Given the description of an element on the screen output the (x, y) to click on. 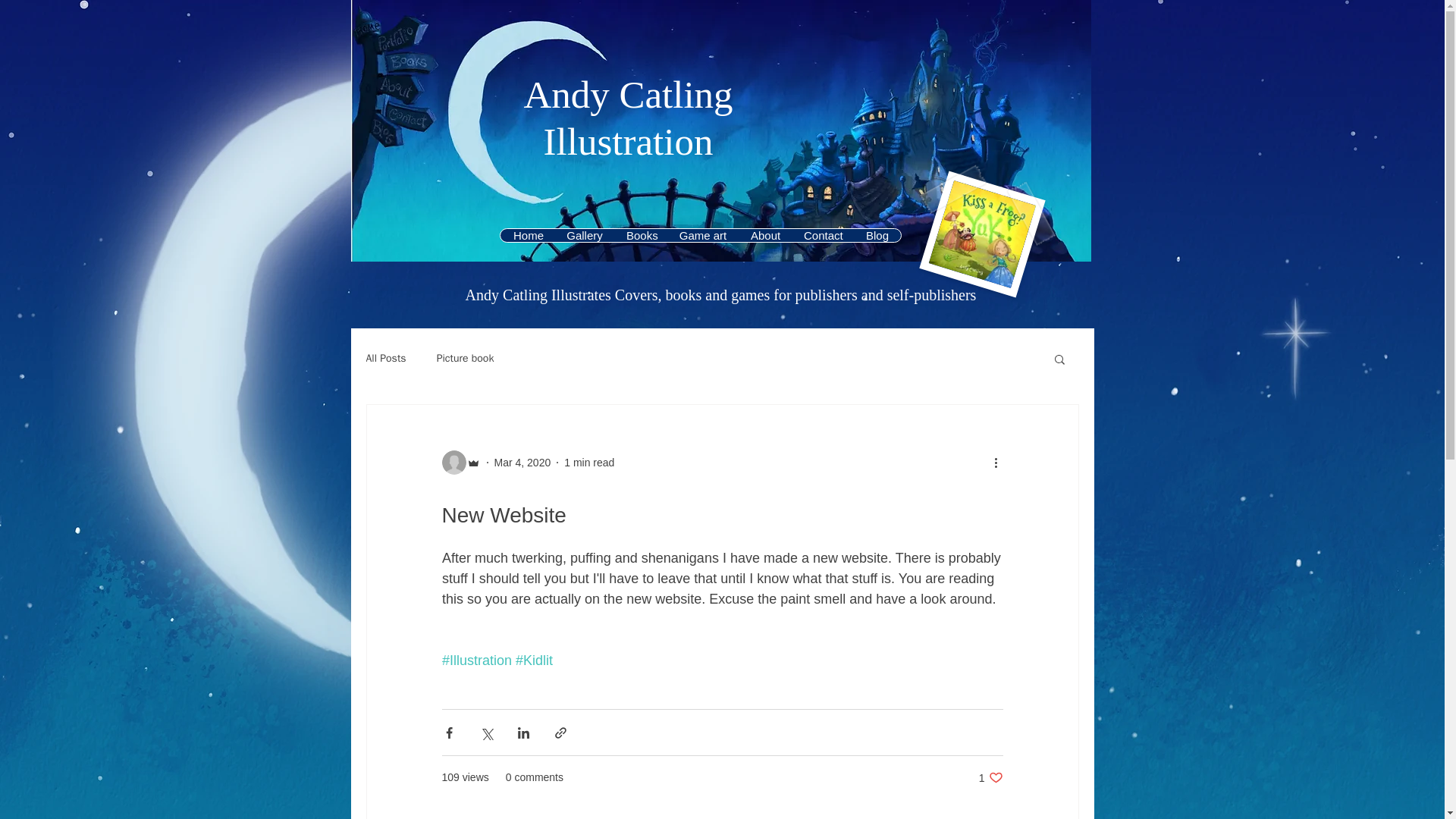
Home (527, 235)
Contact (822, 235)
Gallery (584, 235)
Andy Catling Illustration (627, 117)
Game art (702, 235)
Blog (876, 235)
1 min read (589, 462)
Mar 4, 2020 (523, 462)
Books (990, 777)
All Posts (640, 235)
Picture book (385, 358)
About (465, 358)
